Given the description of an element on the screen output the (x, y) to click on. 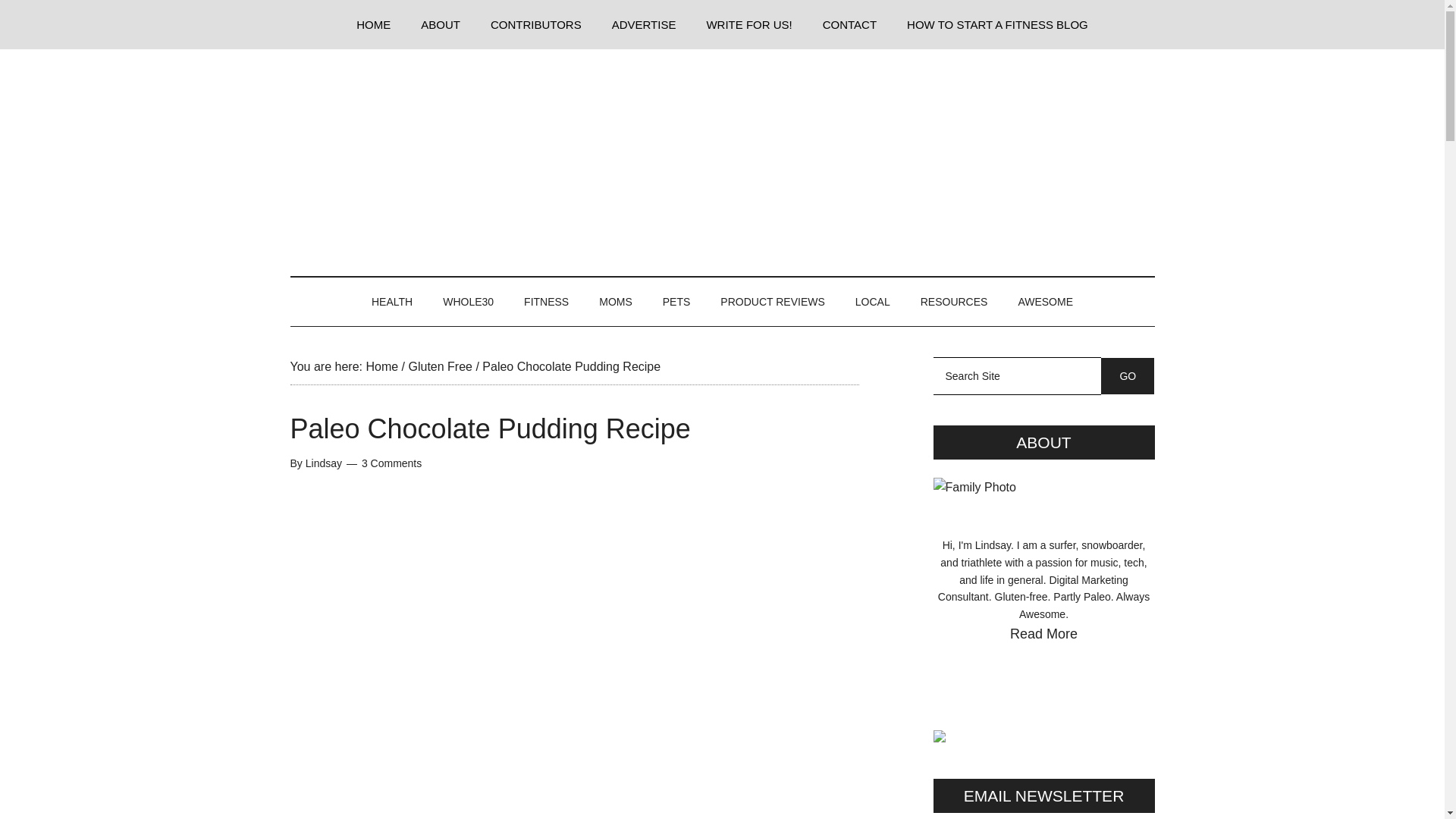
PRODUCT REVIEWS (772, 301)
HOW TO START A FITNESS BLOG (997, 24)
3 Comments (391, 463)
ABOUT (441, 24)
LOCAL (872, 301)
MOMS (615, 301)
Home (381, 366)
ADVERTISE (643, 24)
RESOURCES (954, 301)
WRITE FOR US! (748, 24)
Go (1127, 375)
Lindsay (323, 463)
Gluten Free (439, 366)
HOME (373, 24)
HEALTH (392, 301)
